Given the description of an element on the screen output the (x, y) to click on. 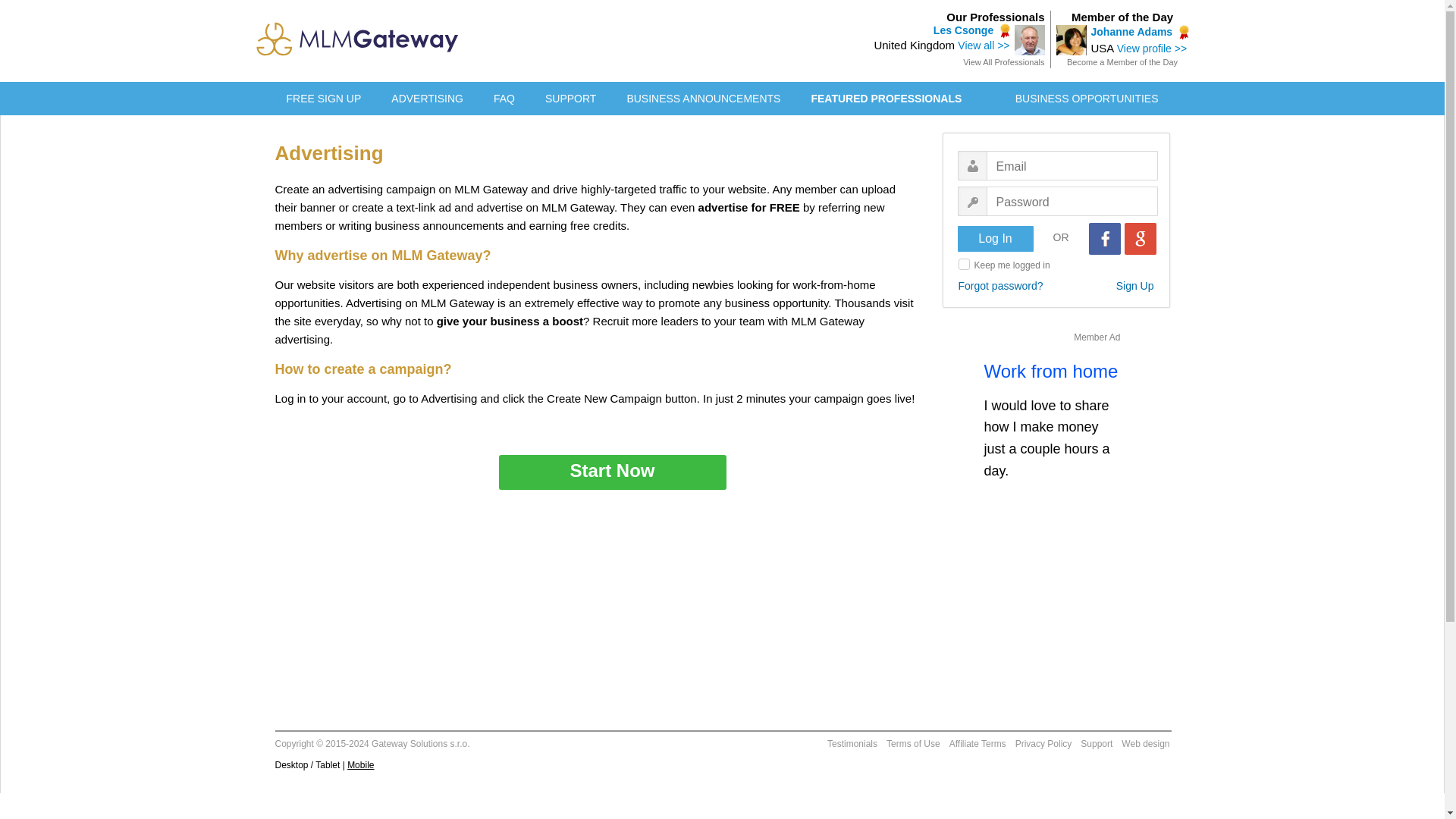
Start Now (612, 472)
ADVERTISING (427, 98)
FREE SIGN UP (323, 98)
Mobile (360, 765)
Forgot password? (1000, 285)
Terms of Use (913, 744)
Become a Member of the Day (1122, 61)
FEATURED PROFESSIONALS (885, 98)
Johanne Adams (1131, 31)
Log In (994, 238)
Support (1096, 744)
FAQ (504, 98)
Start Now (612, 472)
Login with Google (1140, 238)
Sign Up (1135, 285)
